Given the description of an element on the screen output the (x, y) to click on. 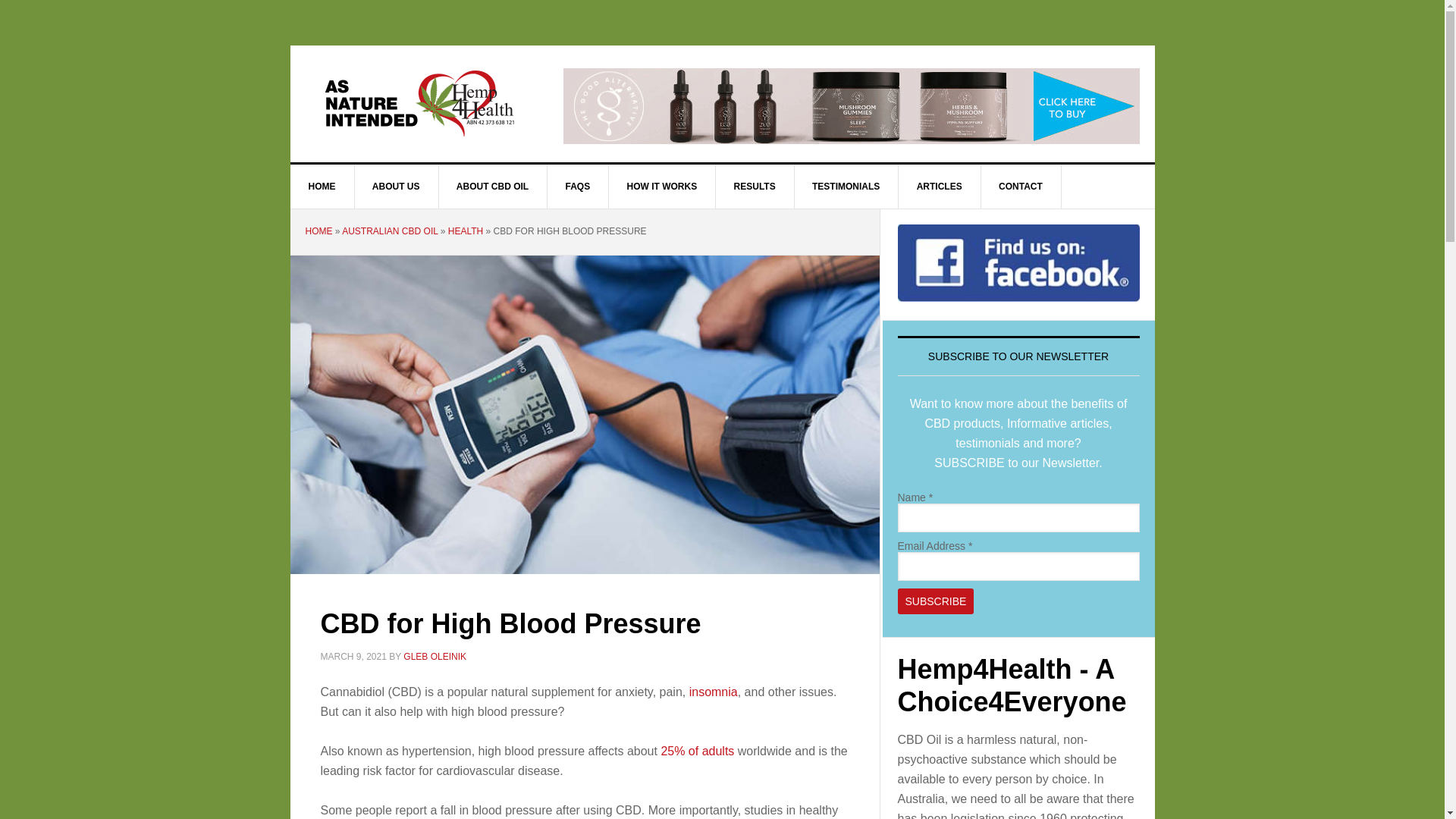
insomnia Element type: text (713, 691)
25% of adults Element type: text (697, 750)
AUSTRALIAN CBD OIL Element type: text (389, 230)
GLEB OLEINIK Element type: text (434, 655)
CONTACT Element type: text (1020, 186)
HOW IT WORKS Element type: text (662, 186)
HOME Element type: text (321, 186)
HOME Element type: text (318, 230)
Skip to primary navigation Element type: text (0, 0)
ABOUT US Element type: text (396, 186)
RESULTS Element type: text (754, 186)
HEALTH Element type: text (465, 230)
HEMP4HEALTH Element type: text (418, 102)
ABOUT CBD OIL Element type: text (492, 186)
Subscribe Element type: text (935, 601)
TESTIMONIALS Element type: text (845, 186)
FAQS Element type: text (578, 186)
ARTICLES Element type: text (939, 186)
